Given the description of an element on the screen output the (x, y) to click on. 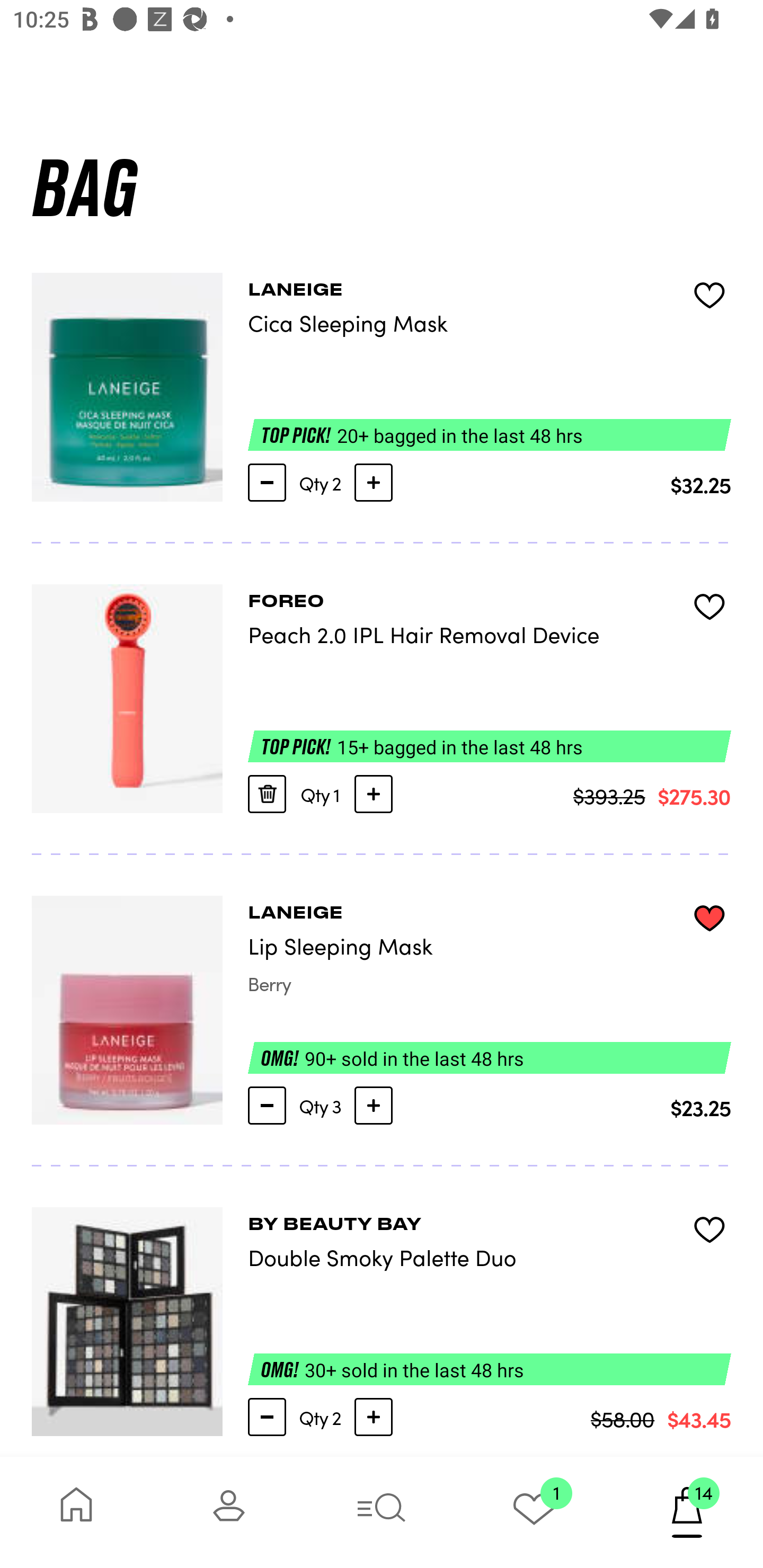
1 (533, 1512)
14 (686, 1512)
